Given the description of an element on the screen output the (x, y) to click on. 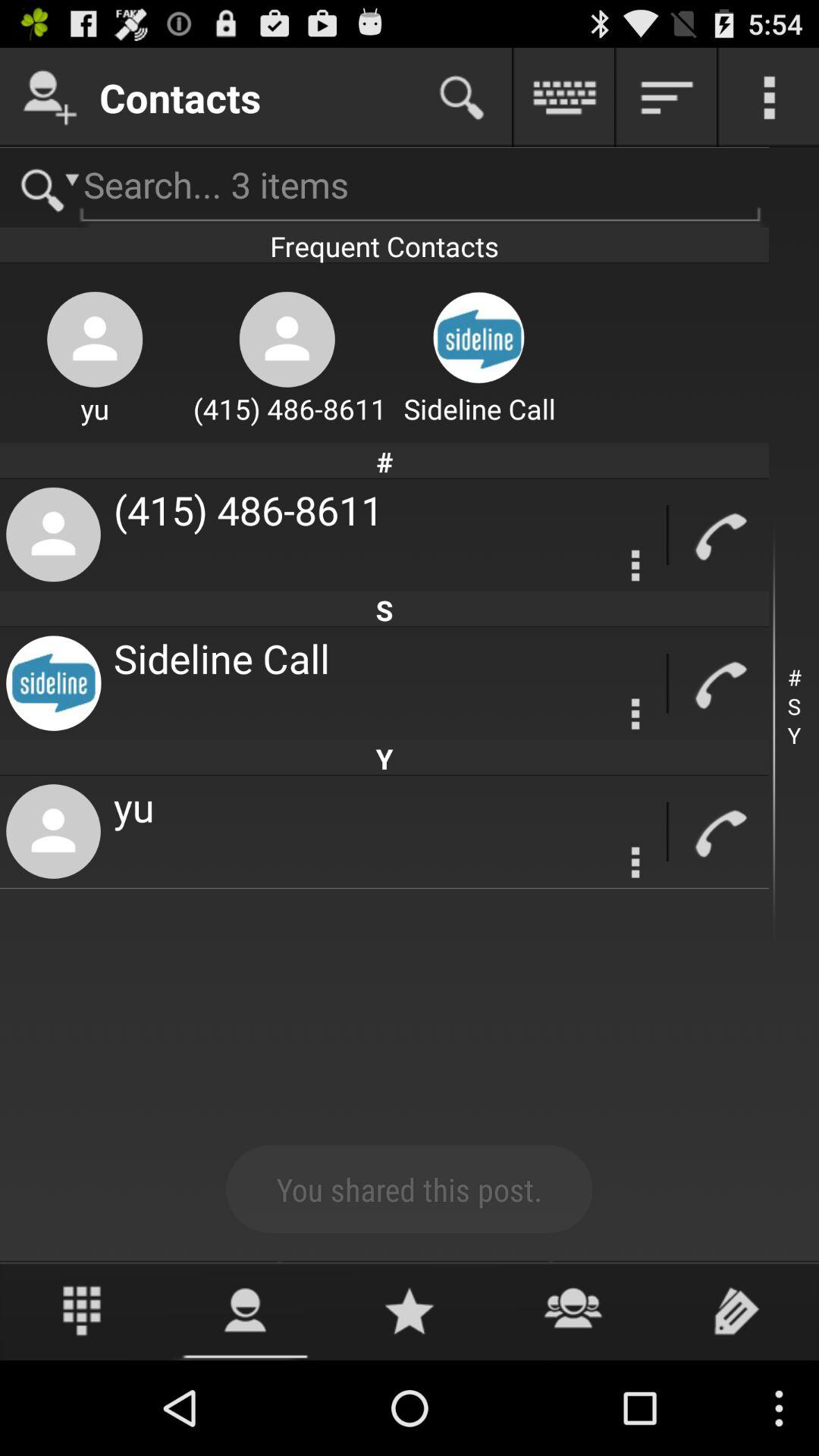
contact option (245, 1310)
